Given the description of an element on the screen output the (x, y) to click on. 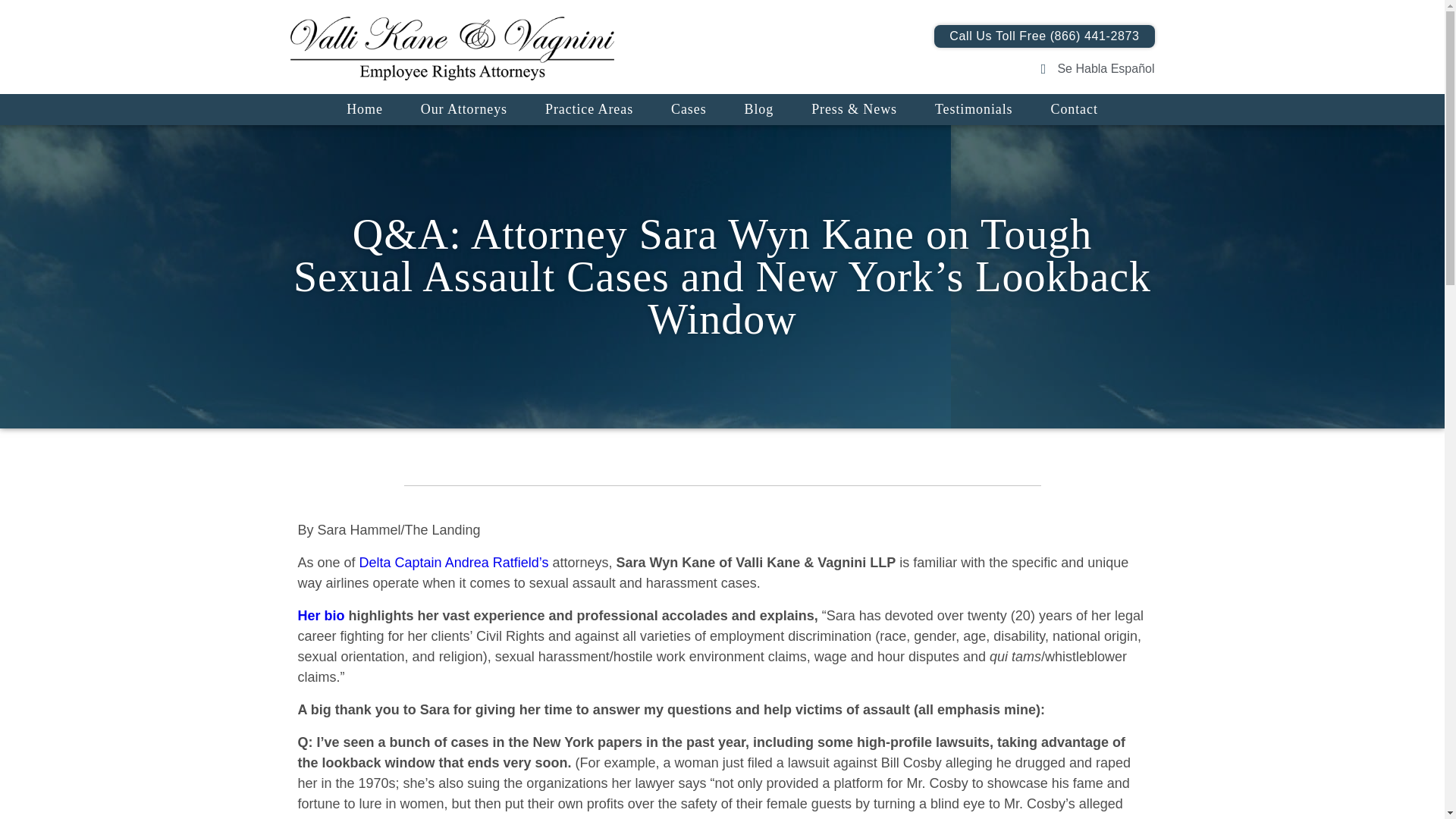
Testimonials (973, 109)
Blog (759, 109)
Our Attorneys (464, 109)
Cases (689, 109)
Home (364, 109)
Practice Areas (588, 109)
Contact (1074, 109)
